Given the description of an element on the screen output the (x, y) to click on. 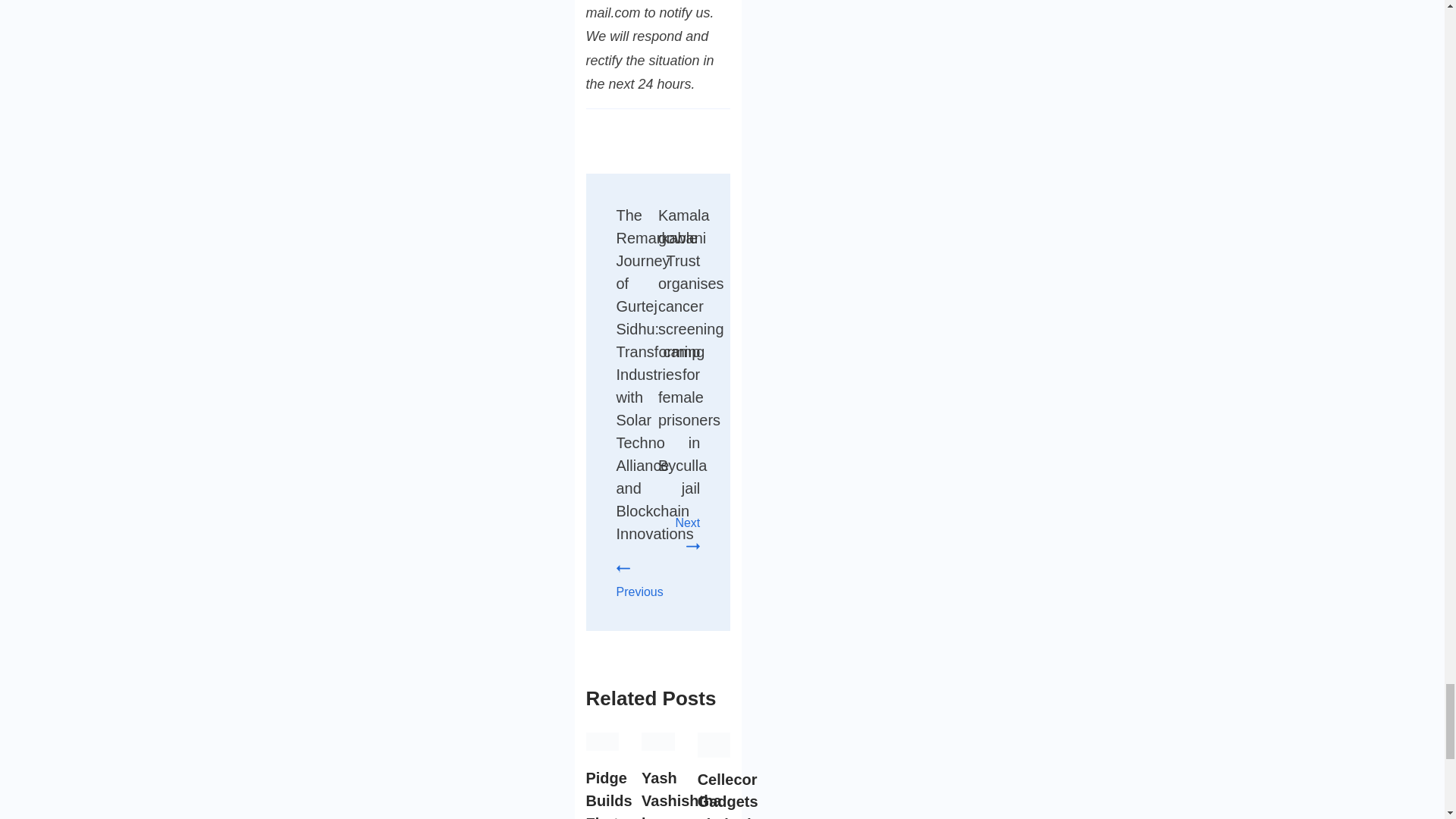
Yash Vashishtha is the Growth Factor Behind Trolls Official (681, 794)
Previous (638, 579)
